Given the description of an element on the screen output the (x, y) to click on. 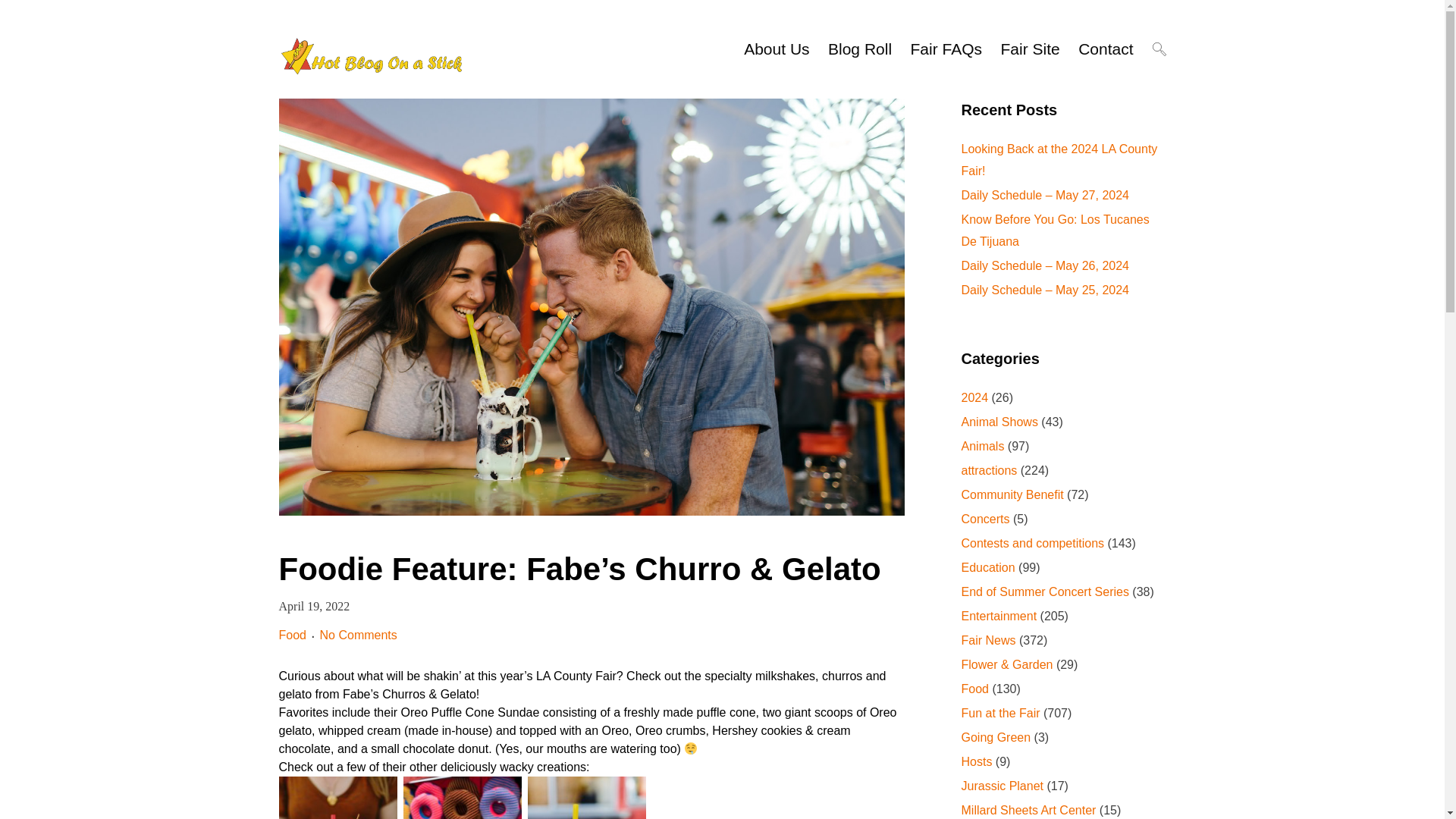
Food (292, 635)
Blog Roll (859, 48)
Fair Site (1029, 48)
About Us (776, 48)
No Comments (358, 635)
Contact (1105, 48)
Fair FAQs (946, 48)
